Given the description of an element on the screen output the (x, y) to click on. 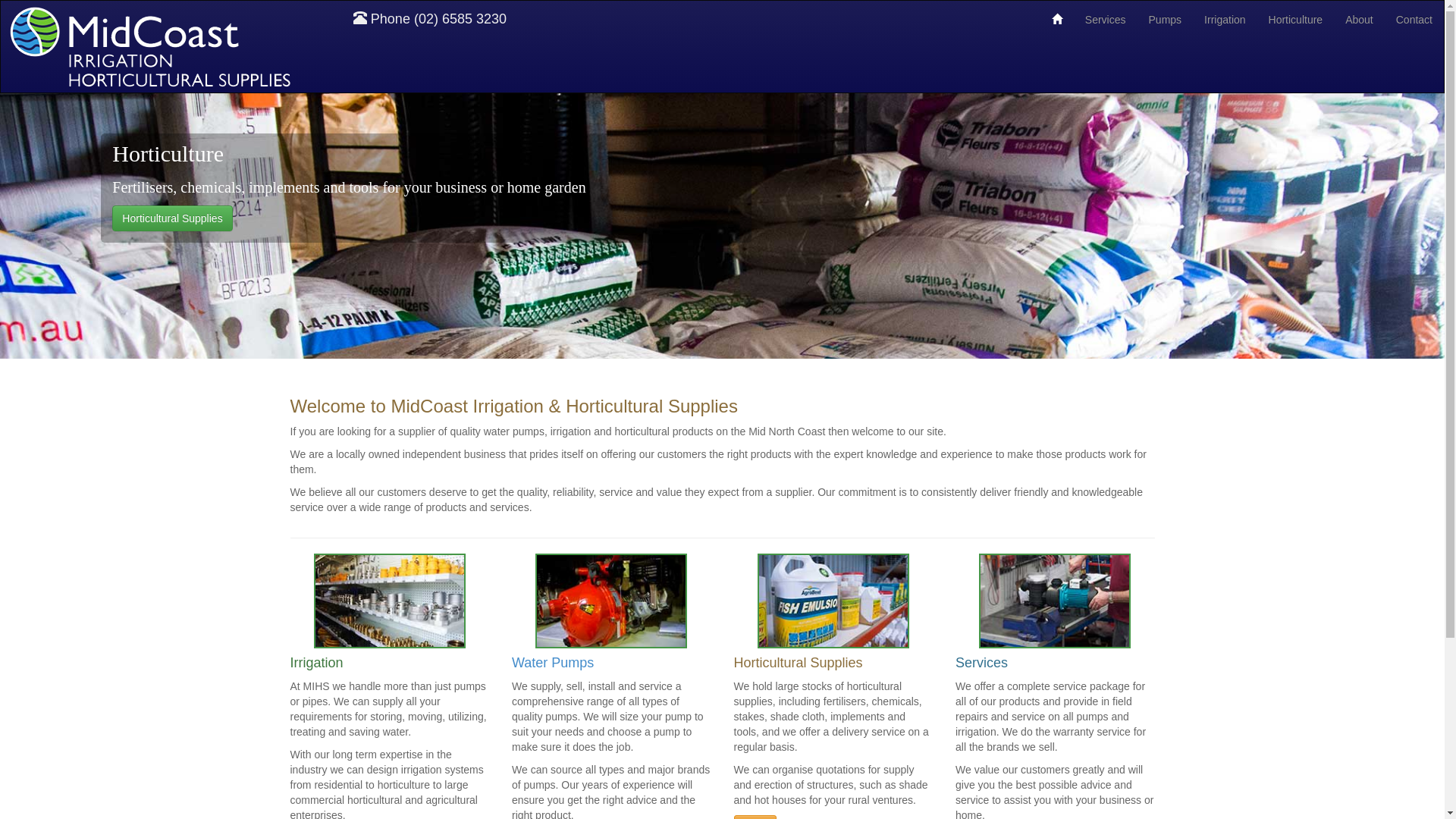
Horticultural Supplies Element type: text (833, 611)
Services Element type: text (1105, 19)
Services Element type: text (1054, 611)
Water Pumps Element type: text (611, 611)
Pumps and Irrigation Element type: text (170, 217)
Irrigation Element type: text (1224, 19)
About Element type: text (1358, 19)
Horticulture Element type: text (1295, 19)
Irrigation Element type: text (389, 611)
Pumps Element type: text (1165, 19)
Contact Element type: text (1413, 19)
